Given the description of an element on the screen output the (x, y) to click on. 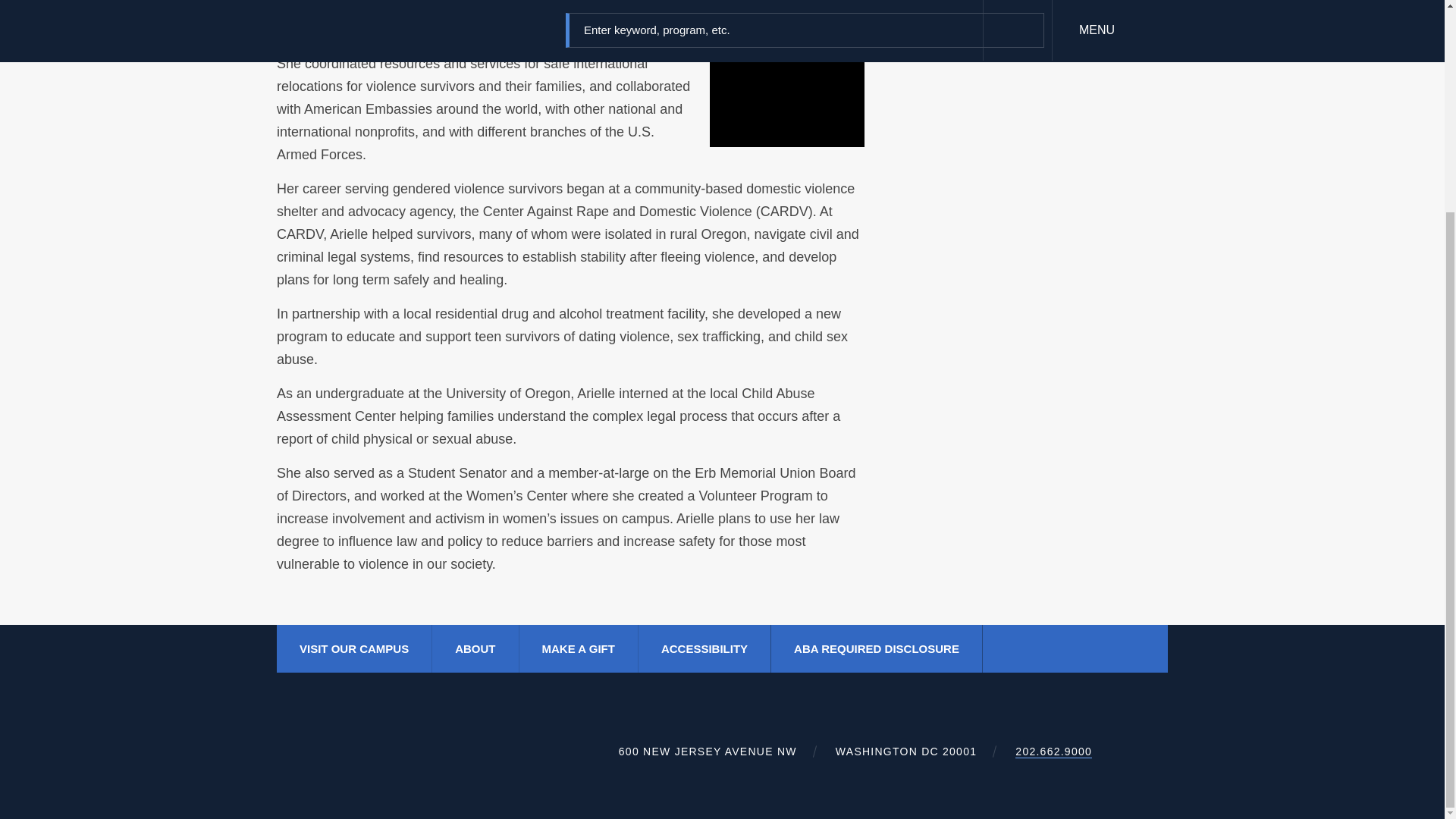
ABA REQUIRED DISCLOSURE (876, 648)
MAKE A GIFT (577, 648)
LinkedIn (1084, 648)
X (1053, 648)
VISIT OUR CAMPUS (354, 648)
ACCESSIBILITY (704, 648)
Instagram (1145, 648)
202.662.9000 (1053, 751)
YouTube (1114, 648)
Facebook (1023, 648)
